Given the description of an element on the screen output the (x, y) to click on. 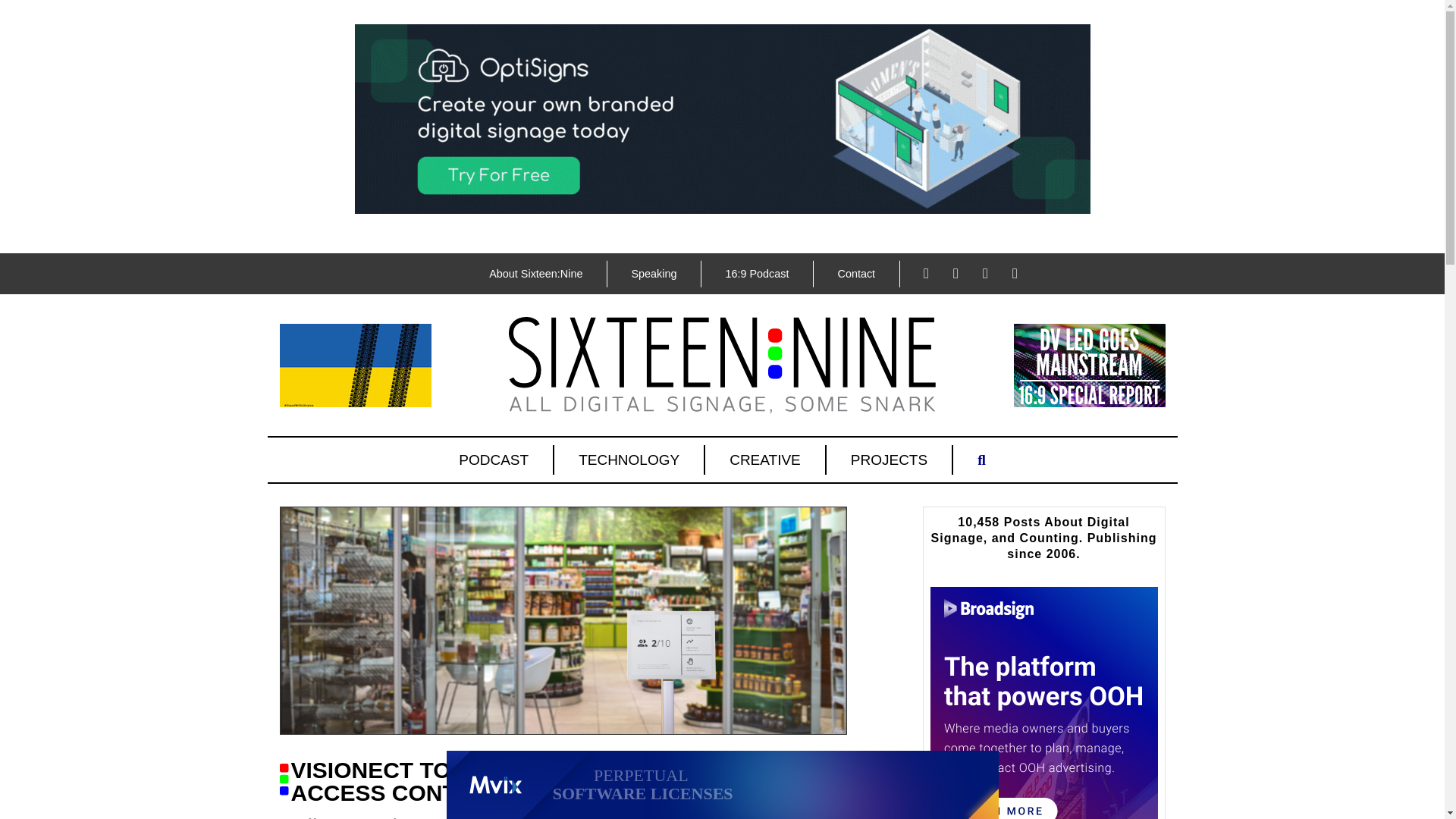
Contact (855, 273)
CREATIVE (765, 460)
16:9 Podcast (756, 273)
About Sixteen:Nine (535, 273)
PROJECTS (890, 460)
Speaking (653, 273)
PODCAST (493, 460)
TECHNOLOGY (629, 460)
